Given the description of an element on the screen output the (x, y) to click on. 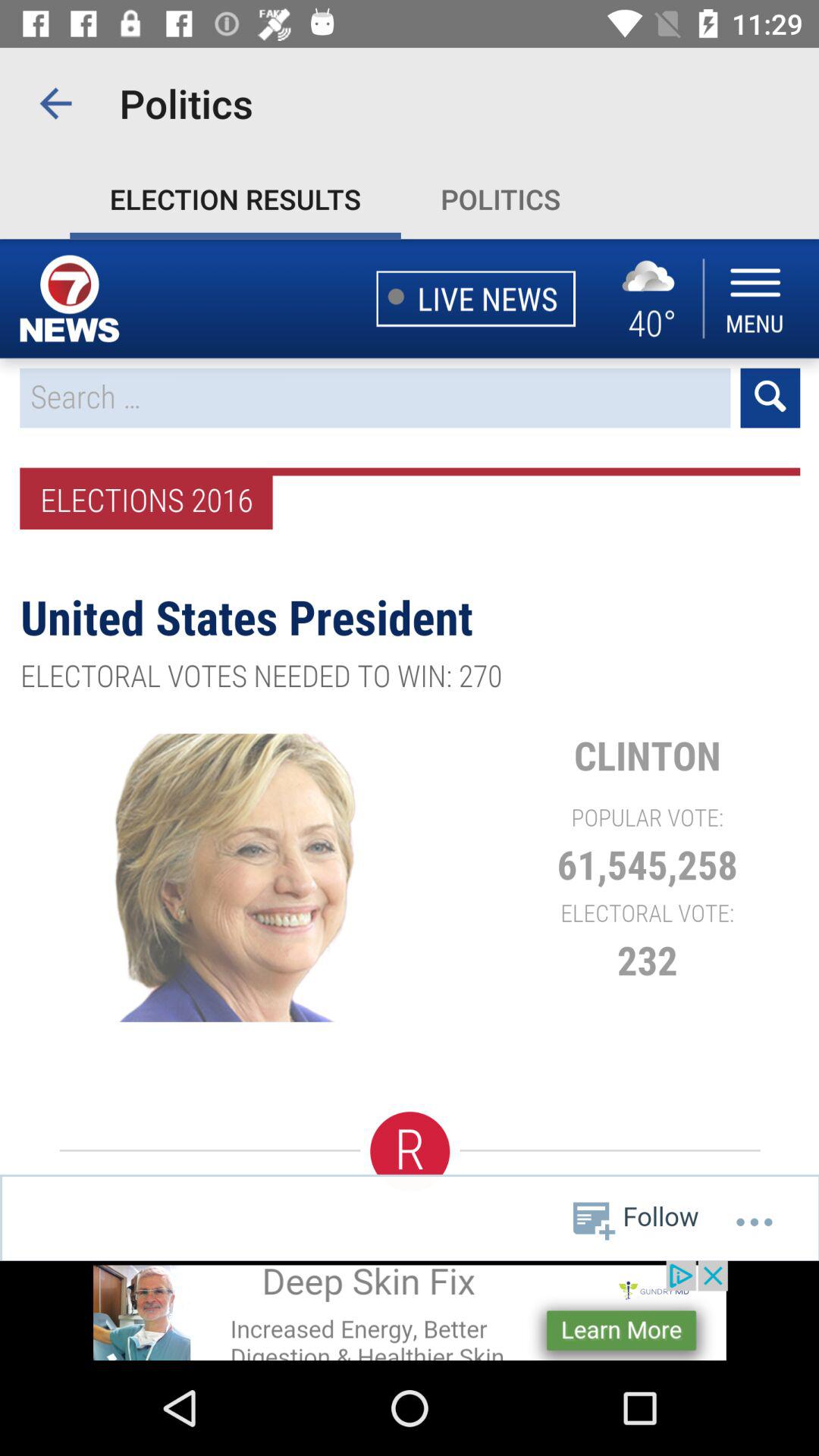
go to advertisement website (409, 1310)
